Given the description of an element on the screen output the (x, y) to click on. 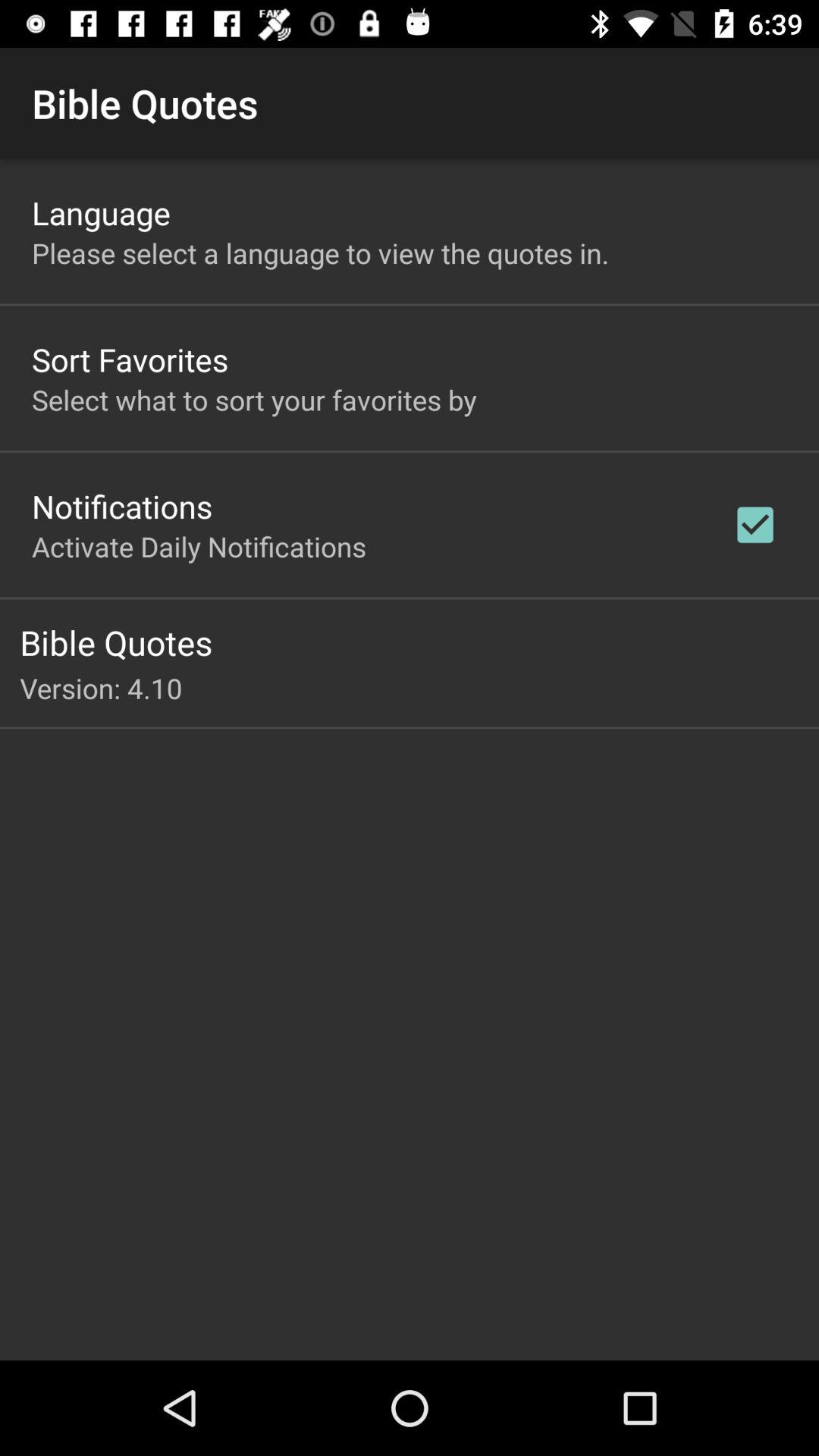
launch the item on the right (755, 524)
